Given the description of an element on the screen output the (x, y) to click on. 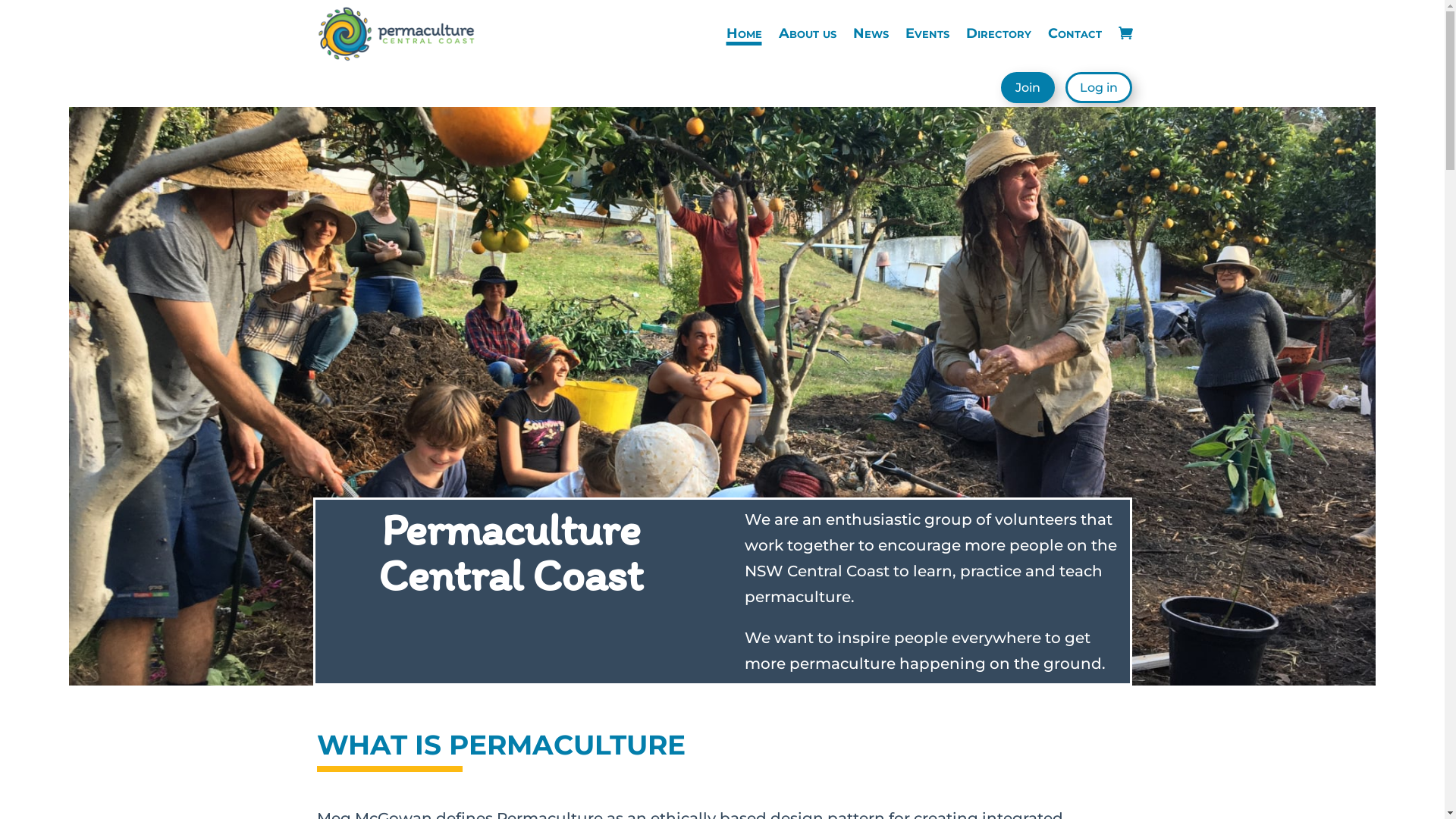
Home Element type: text (744, 33)
Events Element type: text (927, 33)
About us Element type: text (806, 33)
Log in Element type: text (1097, 87)
News Element type: text (870, 33)
Contact Element type: text (1074, 33)
Join Element type: text (1027, 87)
Skip to main content Element type: text (0, 0)
Directory Element type: text (998, 33)
